Given the description of an element on the screen output the (x, y) to click on. 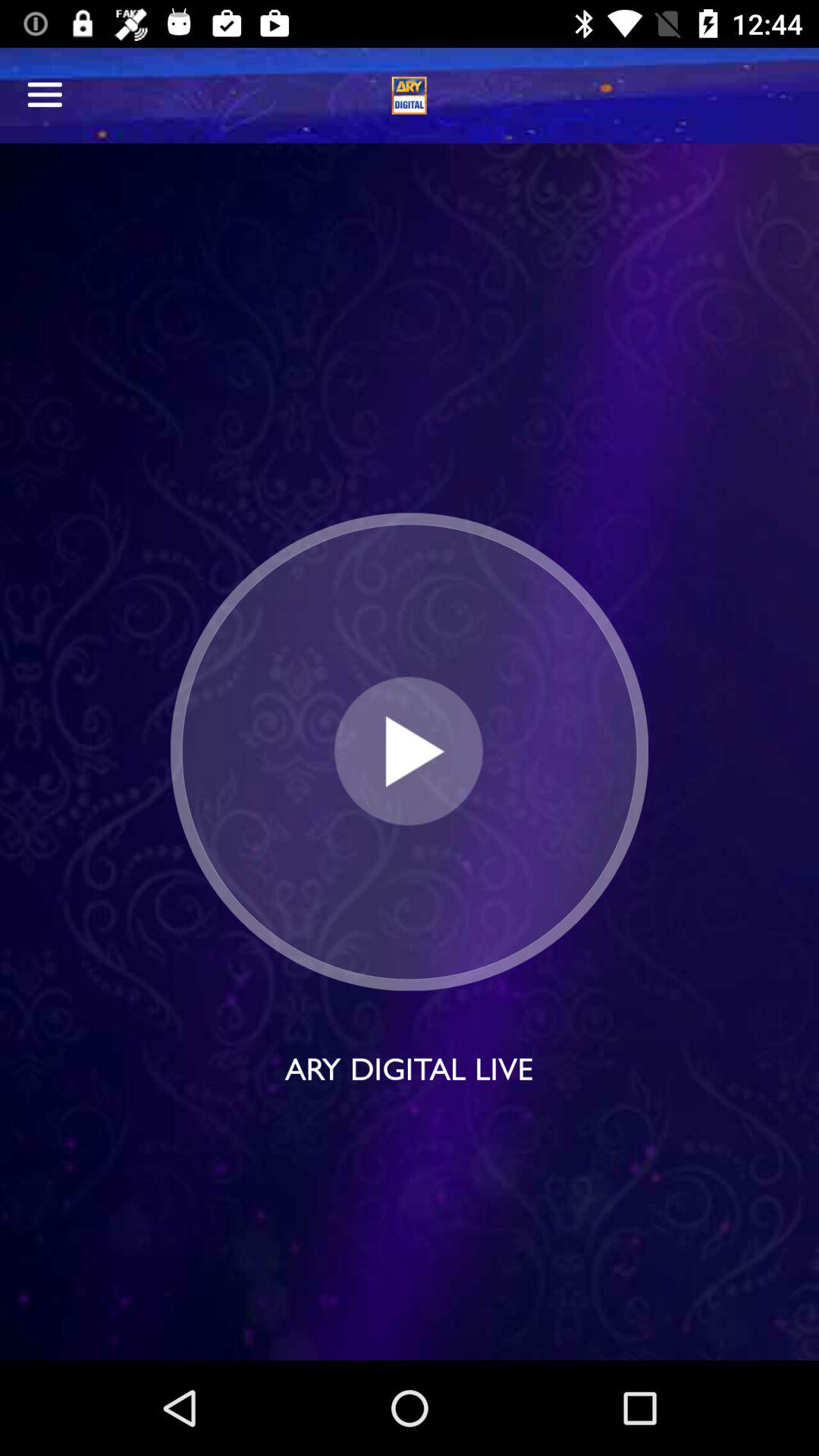
play button (409, 751)
